Given the description of an element on the screen output the (x, y) to click on. 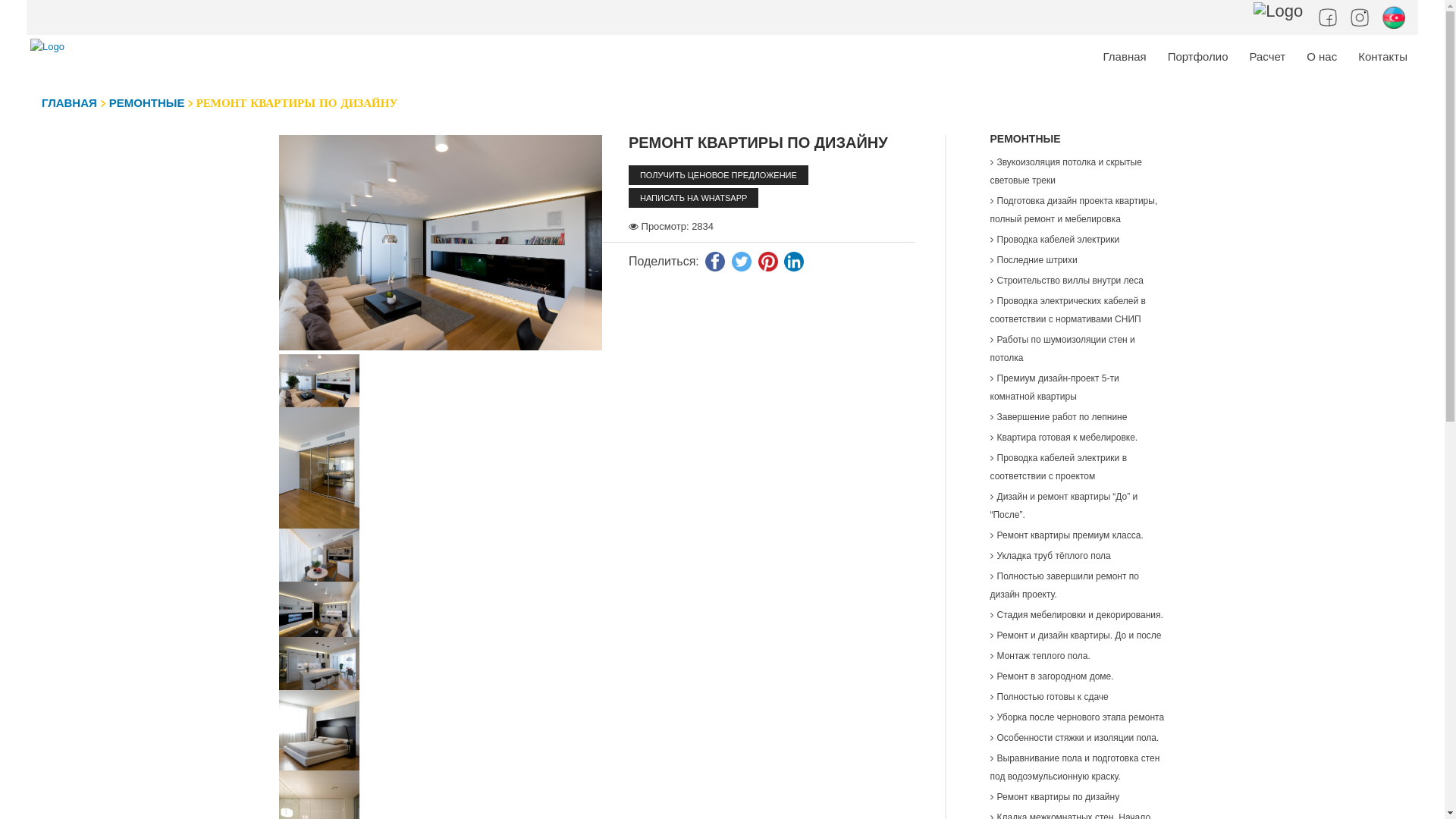
Lang-Azerbaijani Element type: hover (1393, 14)
Facebook Element type: hover (1329, 14)
Instagram Element type: hover (1361, 14)
